Given the description of an element on the screen output the (x, y) to click on. 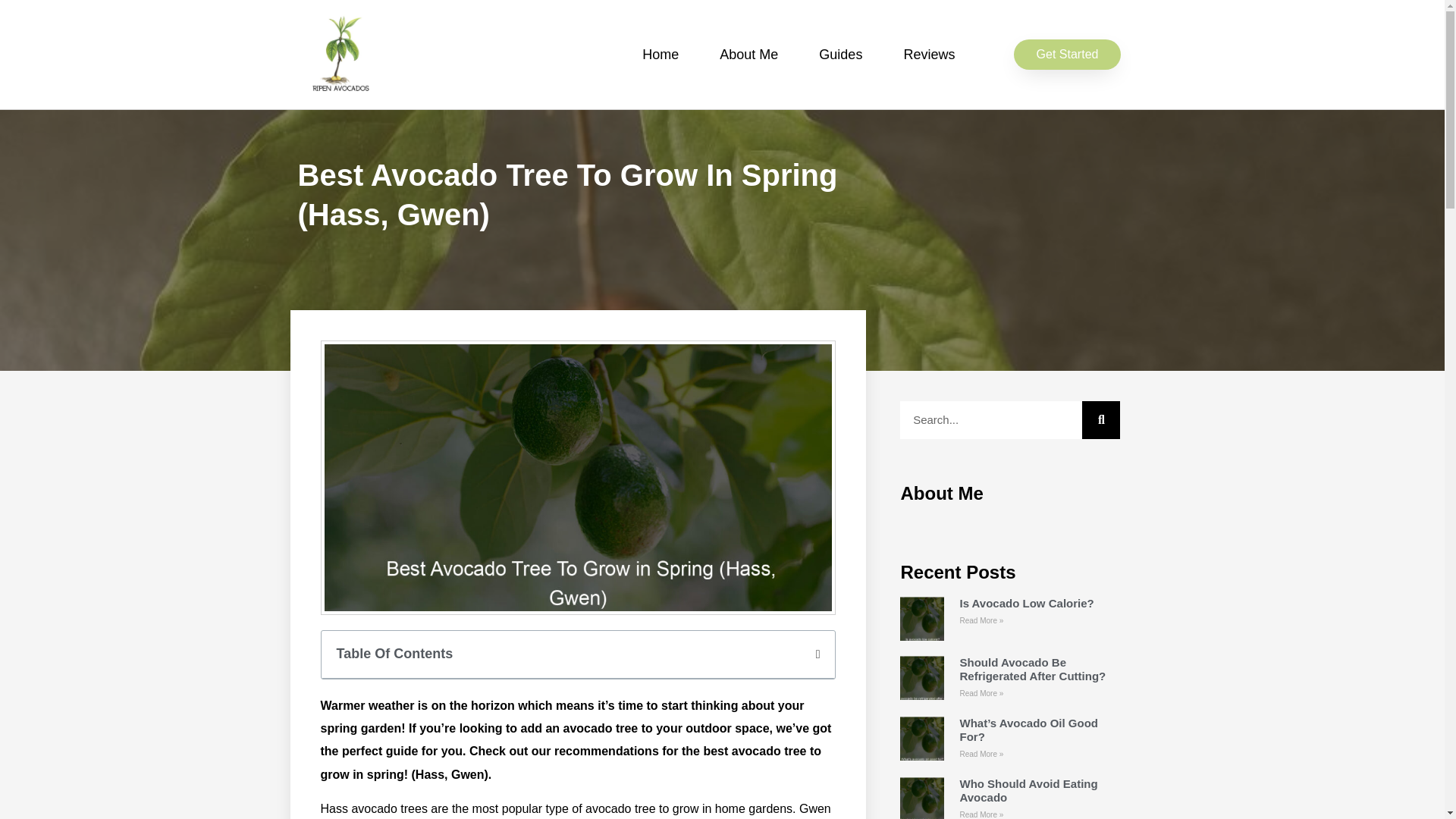
Home (659, 54)
Search (990, 419)
Is Avocado Low Calorie? (1026, 603)
Search (1100, 419)
About Me (747, 54)
Guides (839, 54)
Reviews (928, 54)
Get Started (1067, 54)
